Given the description of an element on the screen output the (x, y) to click on. 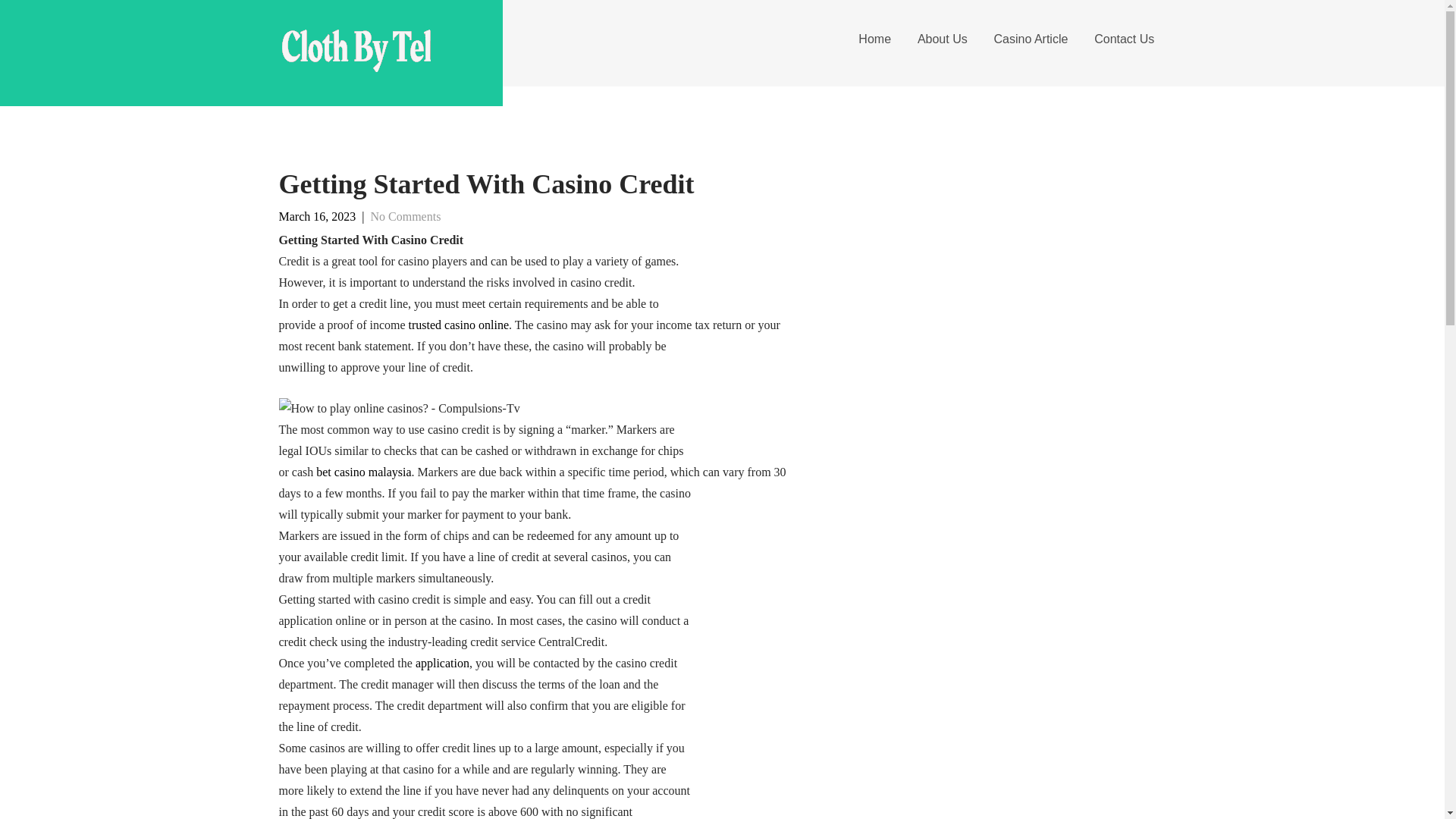
bet casino malaysia (362, 472)
Casino Article (1029, 39)
application (441, 662)
No Comments (405, 215)
About Us (941, 39)
Contact Us (1124, 39)
trusted casino online (458, 324)
Home (874, 39)
